Given the description of an element on the screen output the (x, y) to click on. 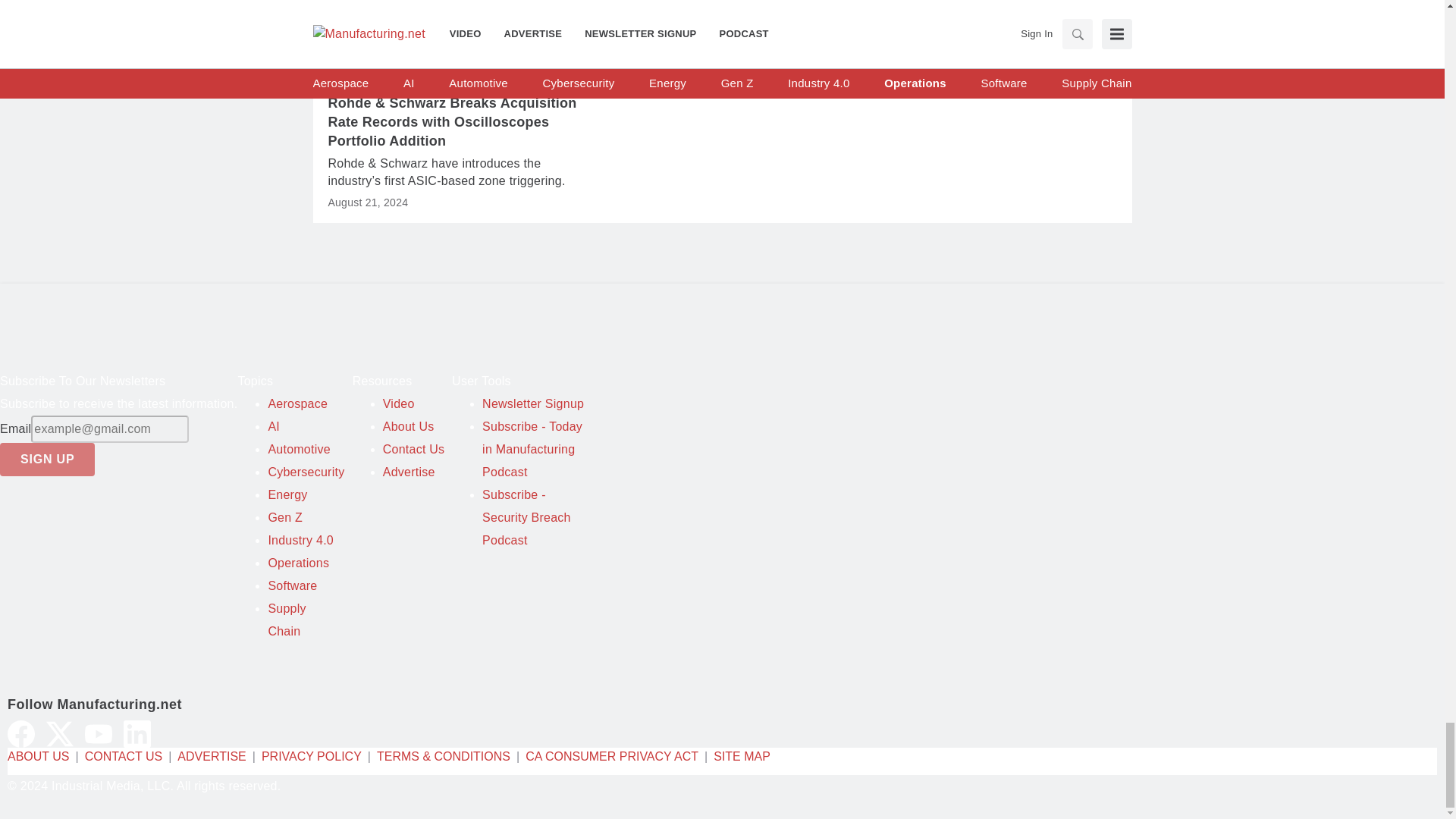
LinkedIn icon (137, 733)
YouTube icon (98, 733)
Facebook icon (20, 733)
Twitter X icon (60, 733)
